Given the description of an element on the screen output the (x, y) to click on. 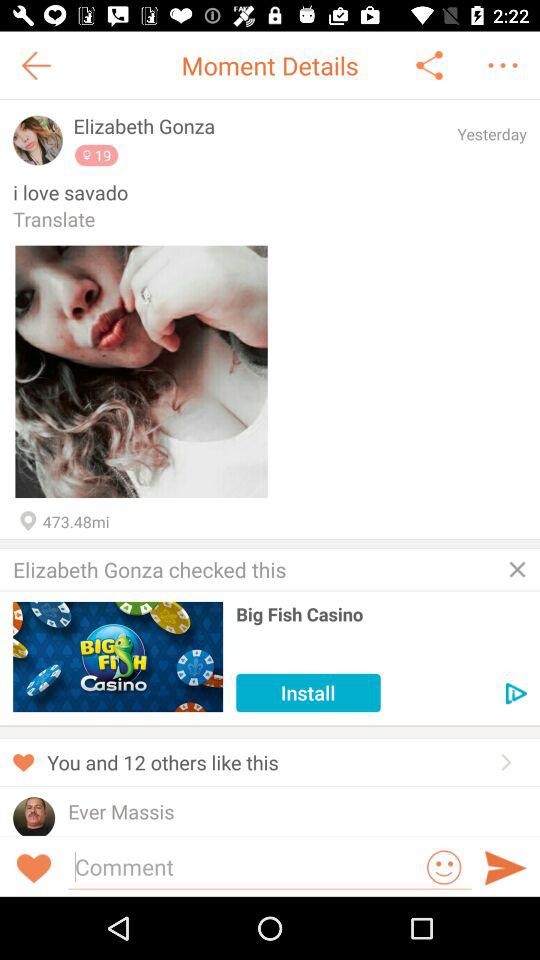
launch the translate app (269, 218)
